Given the description of an element on the screen output the (x, y) to click on. 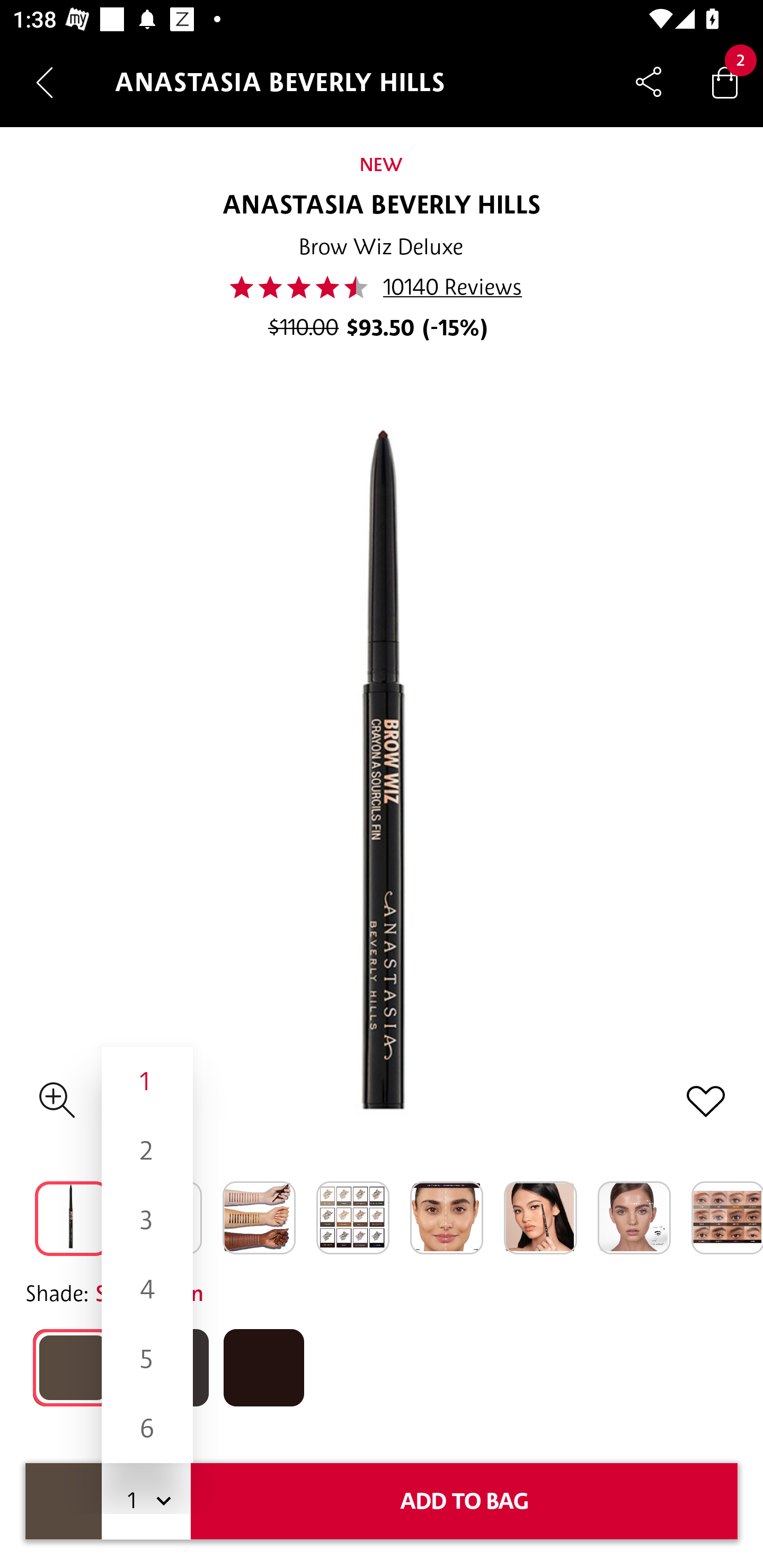
1 (147, 1081)
2 (147, 1150)
3 (147, 1219)
4 (147, 1289)
5 (147, 1358)
6 (147, 1427)
